Given the description of an element on the screen output the (x, y) to click on. 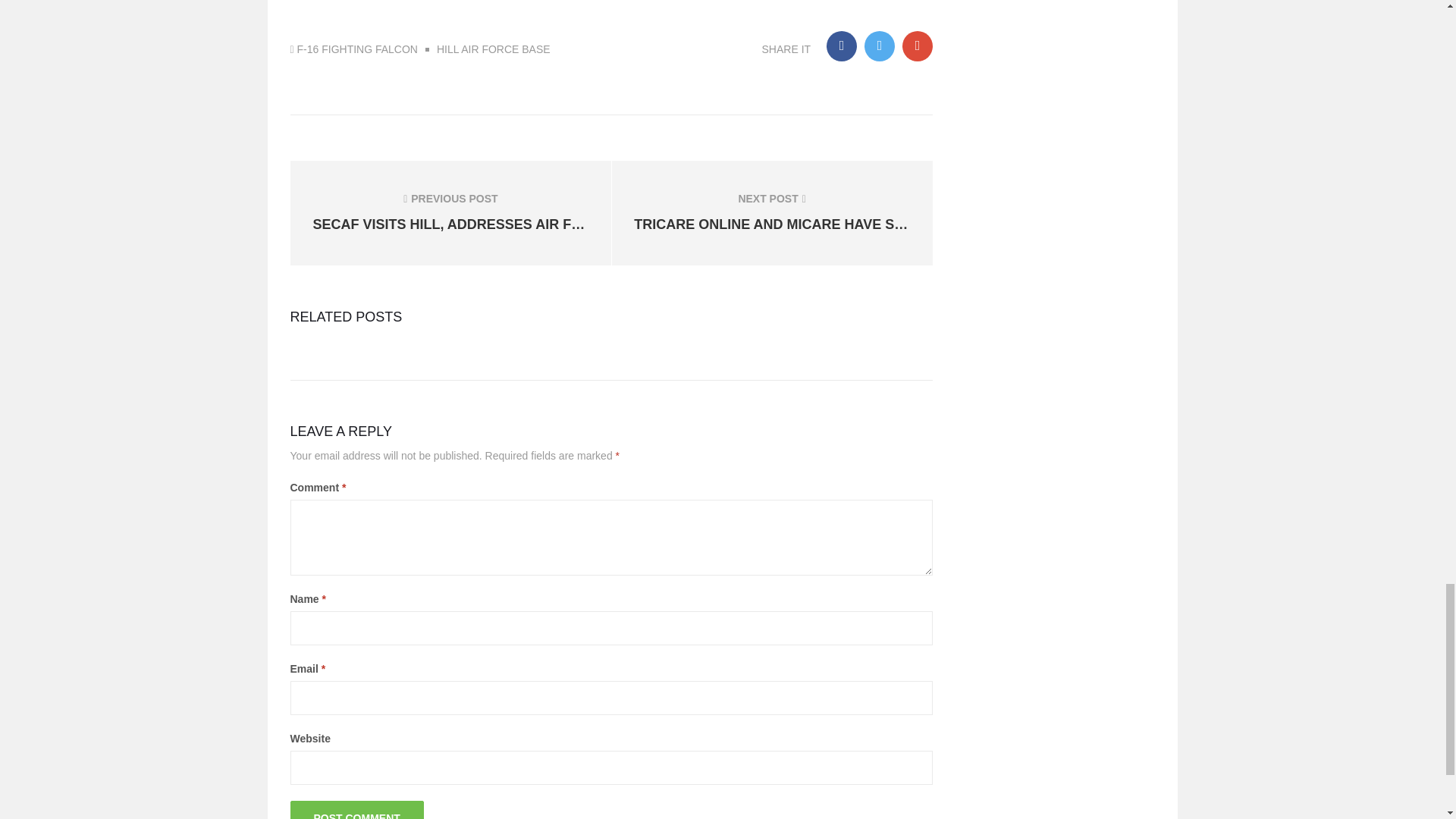
Share on Facebook (842, 46)
Share on Google Plus (917, 46)
Share on Twitter (879, 46)
F-16 FIGHTING FALCON (357, 49)
Post Comment (356, 809)
HILL AIR FORCE BASE (487, 49)
